Given the description of an element on the screen output the (x, y) to click on. 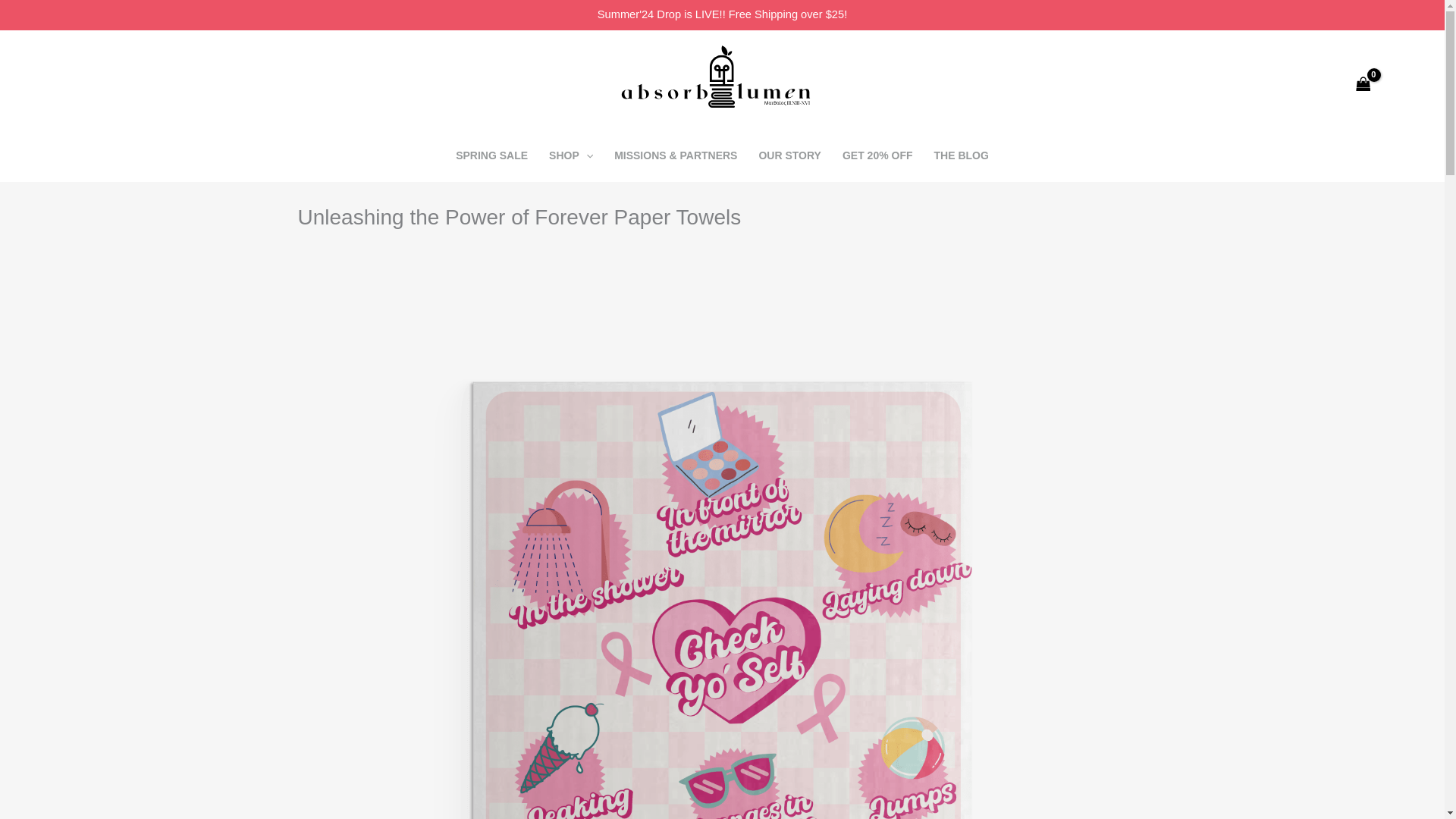
THE BLOG (960, 155)
SPRING SALE (491, 155)
OUR STORY (789, 155)
SHOP (571, 155)
